Given the description of an element on the screen output the (x, y) to click on. 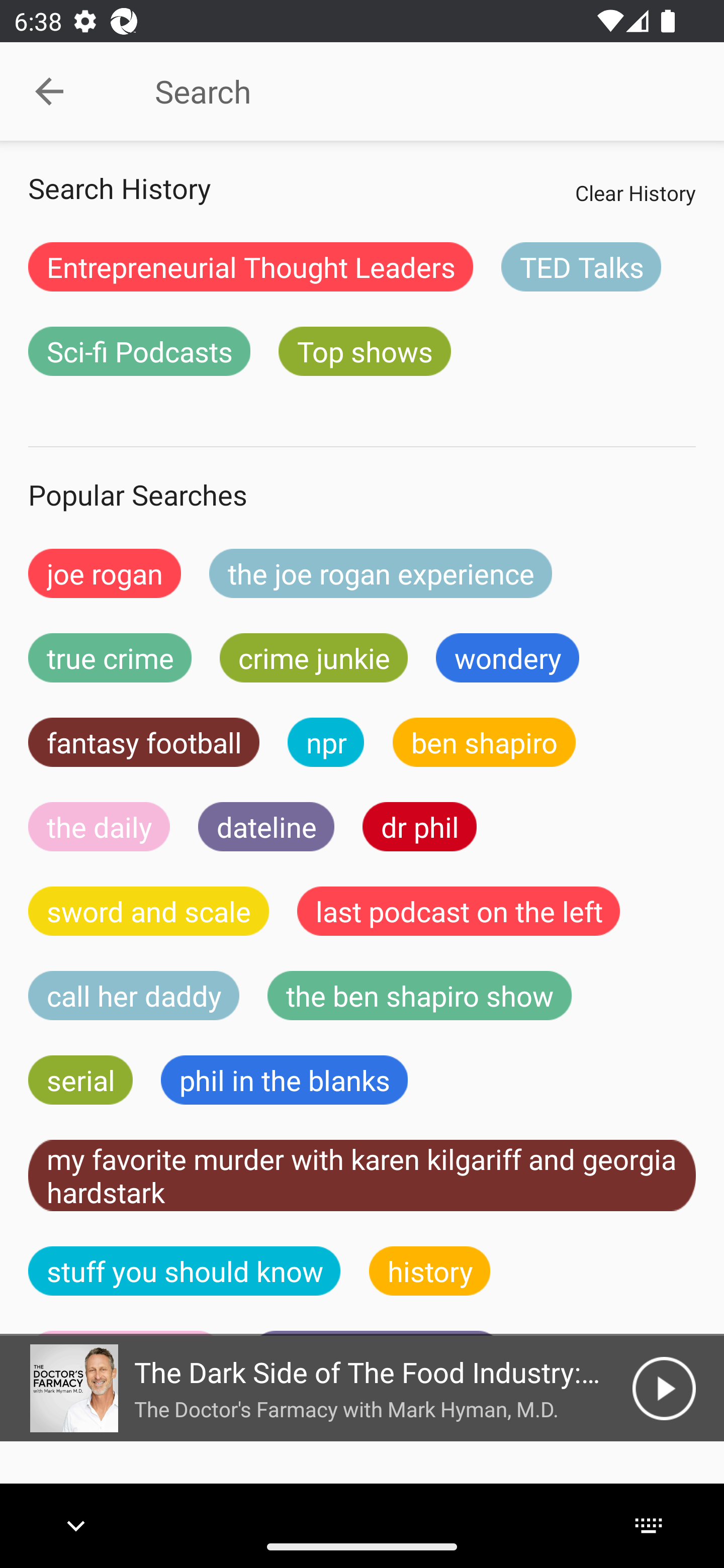
Collapse (49, 91)
Search (407, 91)
Clear History (634, 192)
Entrepreneurial Thought Leaders (250, 266)
TED Talks (581, 266)
Sci-fi Podcasts (139, 351)
Top shows (364, 351)
joe rogan (104, 572)
the joe rogan experience (380, 572)
true crime (109, 657)
crime junkie (313, 657)
wondery (507, 657)
fantasy football (143, 742)
npr (325, 742)
ben shapiro (483, 742)
the daily (99, 826)
dateline (266, 826)
dr phil (419, 826)
sword and scale (148, 910)
last podcast on the left (458, 910)
call her daddy (133, 995)
the ben shapiro show (419, 995)
serial (80, 1079)
phil in the blanks (283, 1079)
stuff you should know (184, 1270)
history (429, 1270)
Play (663, 1388)
